Given the description of an element on the screen output the (x, y) to click on. 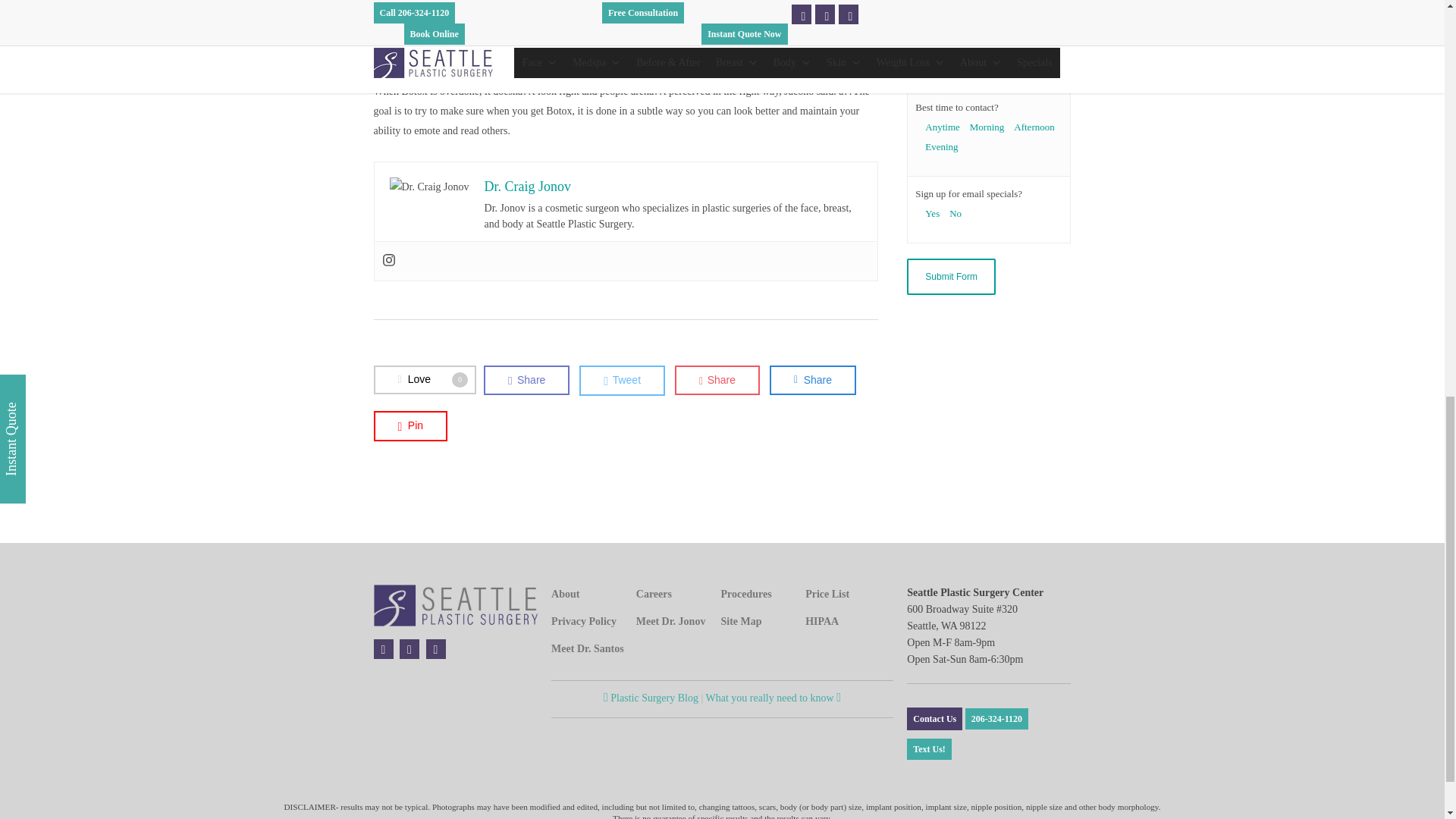
Share this (526, 379)
Pin this (409, 425)
Love this (424, 379)
Submit Form (951, 276)
Share this (717, 379)
Share this (813, 379)
Tweet this (622, 380)
